Given the description of an element on the screen output the (x, y) to click on. 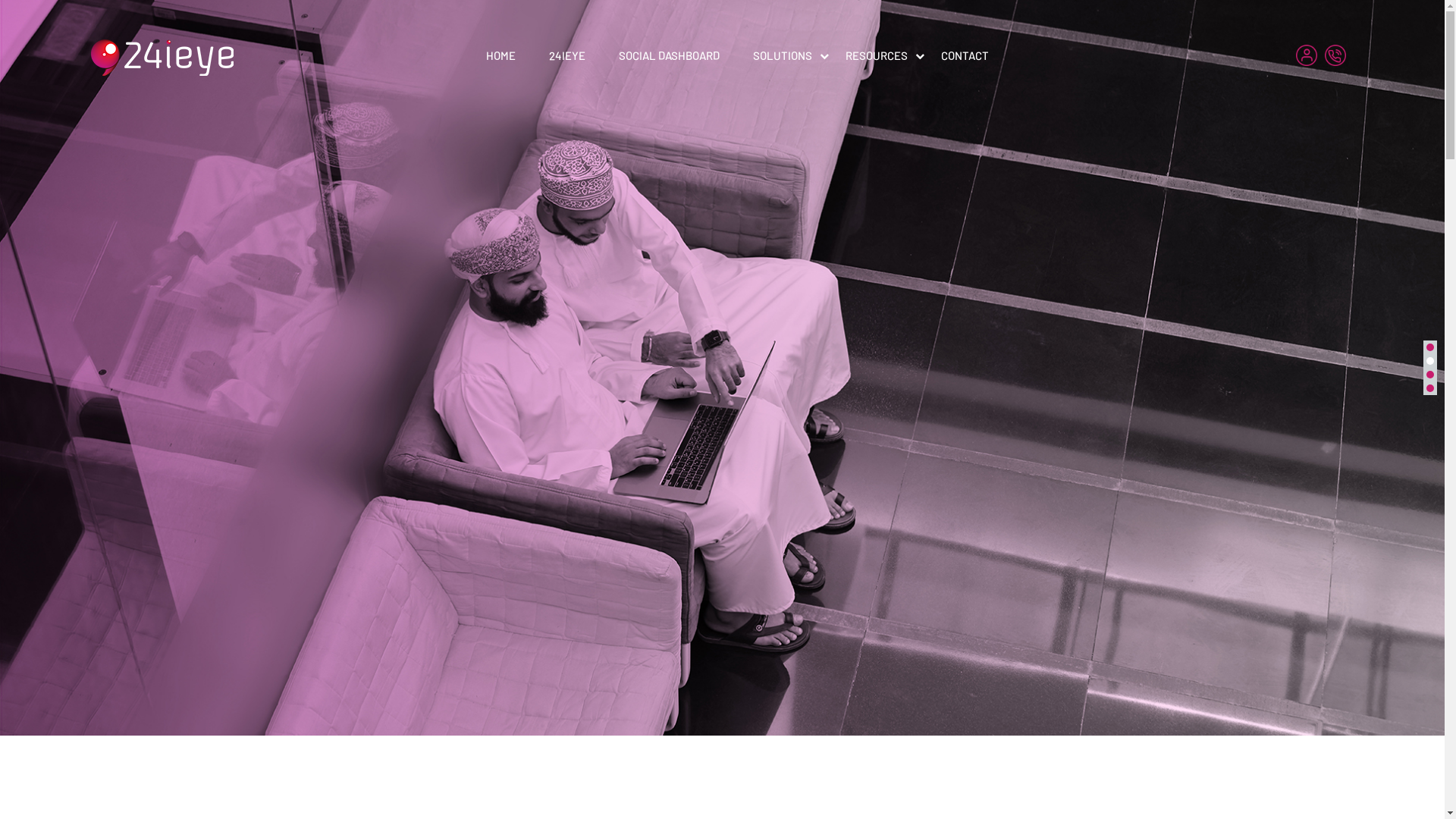
Login to 24ieye Element type: hover (1309, 54)
RESOURCES Element type: text (875, 55)
24IEYE Element type: text (567, 55)
Omanis Shaking Hand Element type: hover (722, 367)
HOME Element type: text (499, 55)
CONTACT Element type: text (963, 55)
SOLUTIONS Element type: text (781, 55)
24ieye Element type: hover (162, 57)
SOCIAL DASHBOARD Element type: text (669, 55)
